Given the description of an element on the screen output the (x, y) to click on. 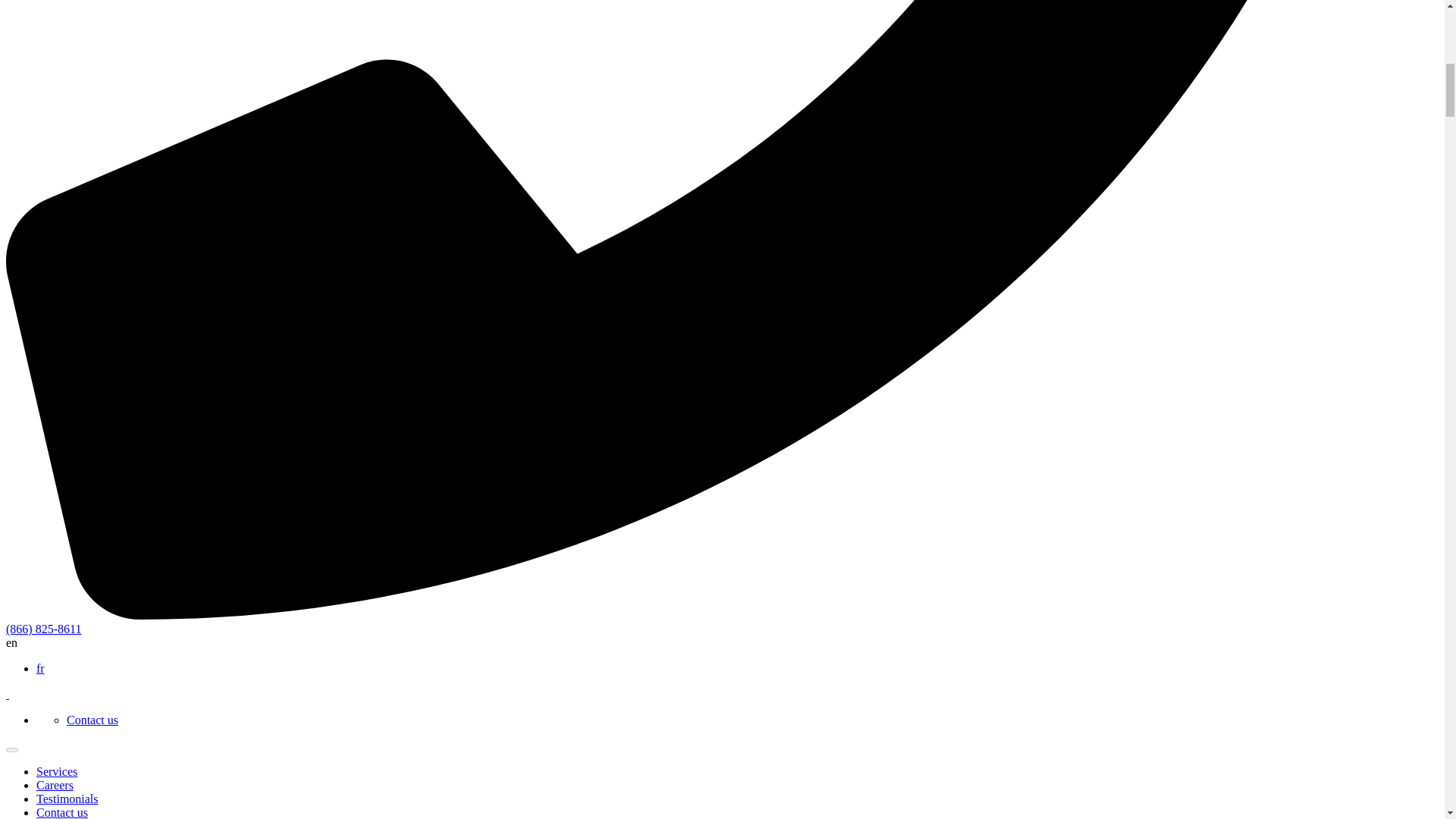
Testimonials (67, 798)
Contact us (91, 719)
Services (56, 771)
Careers (55, 784)
Contact us (61, 812)
Careers (55, 784)
Contact us (91, 719)
Contact us (61, 812)
Services (56, 771)
Testimonials (67, 798)
